Given the description of an element on the screen output the (x, y) to click on. 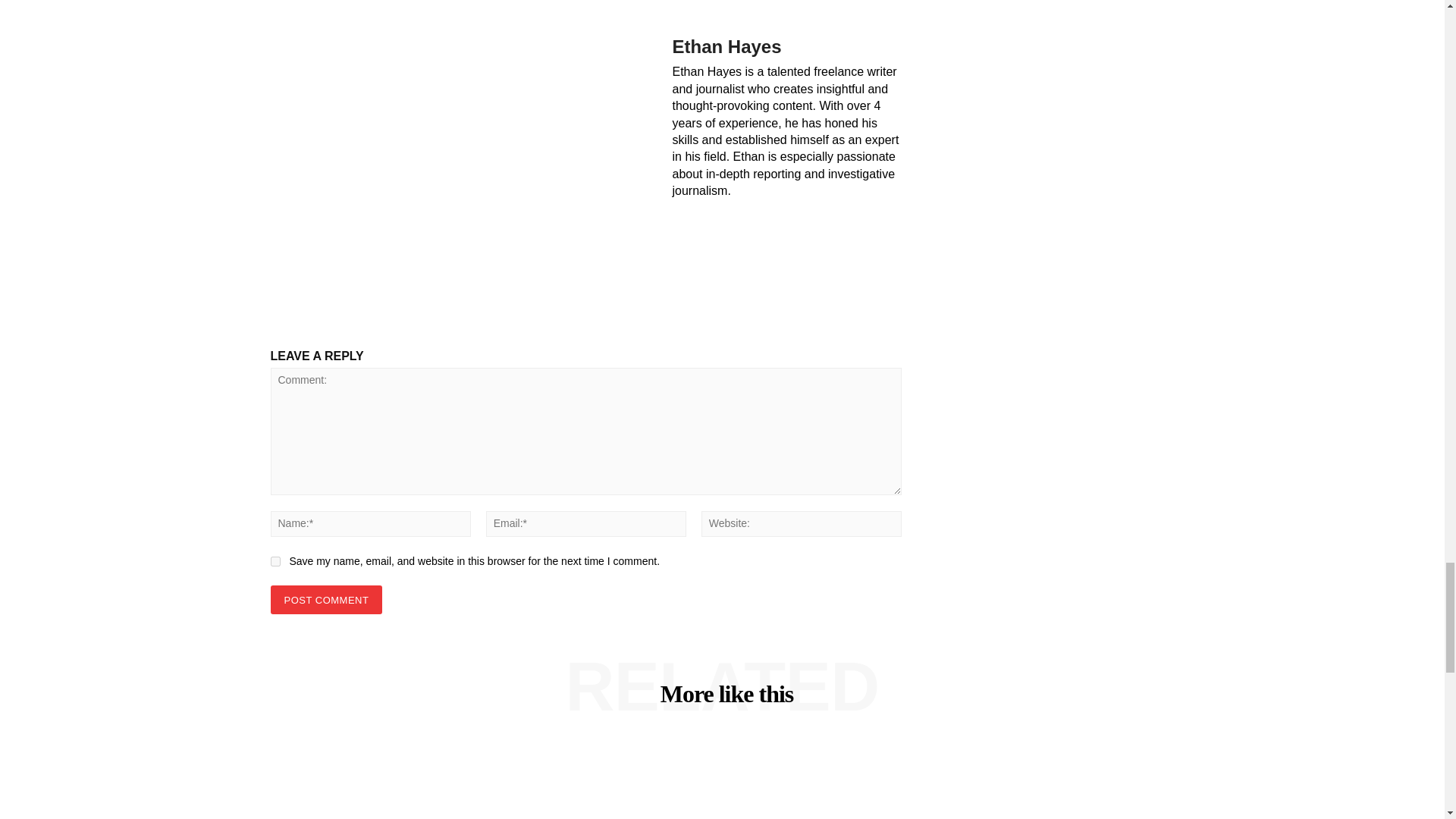
Ethan Hayes (459, 153)
Post Comment (325, 600)
yes (274, 561)
